Given the description of an element on the screen output the (x, y) to click on. 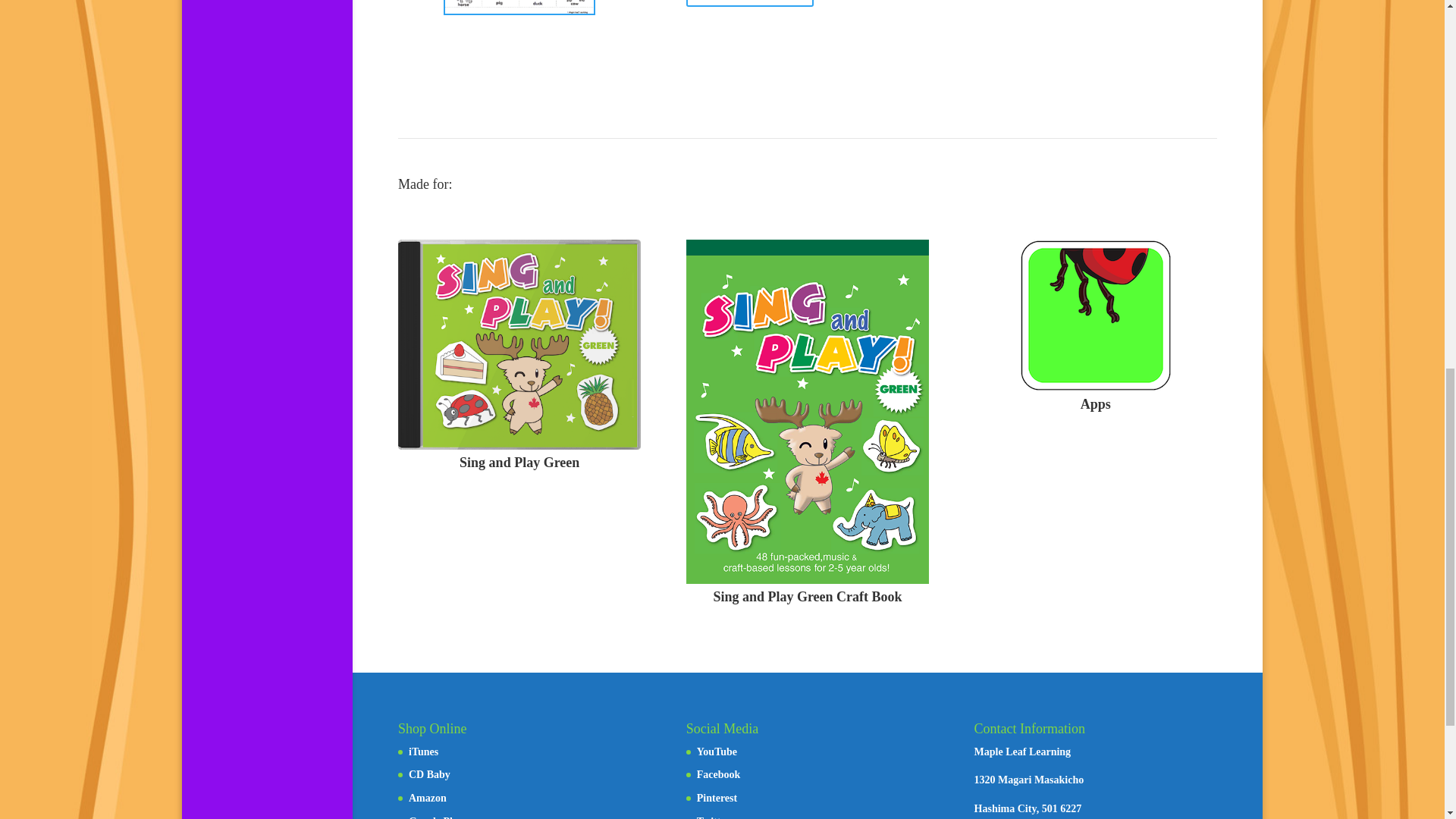
Let's Go to the Farm Activity (519, 7)
